Given the description of an element on the screen output the (x, y) to click on. 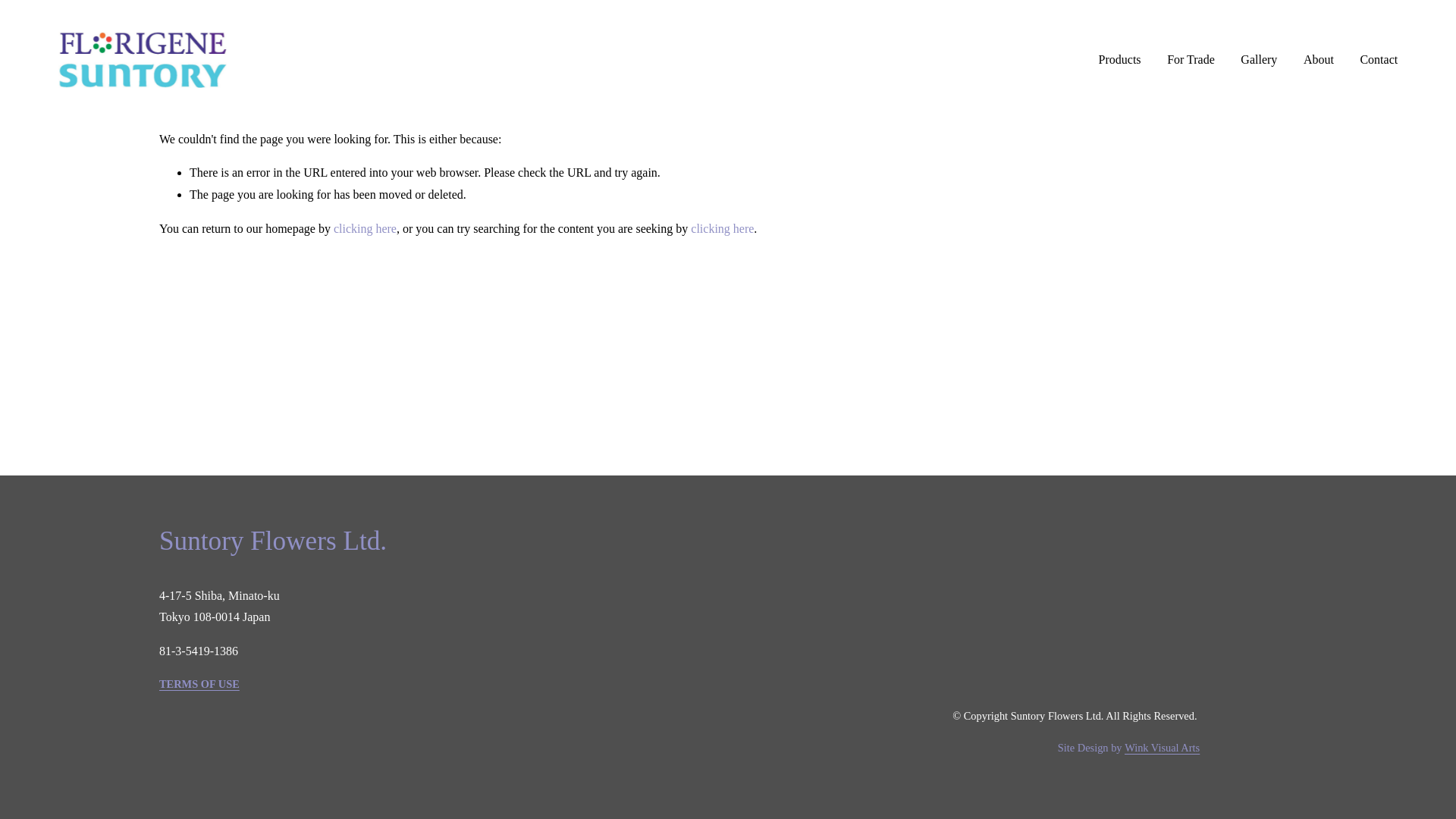
For Trade (1190, 59)
clicking here (364, 228)
Gallery (1258, 59)
Contact (1378, 59)
clicking here (722, 228)
TERMS OF USE (199, 684)
Wink Visual Arts (1161, 748)
About (1318, 59)
Products (1120, 59)
